Given the description of an element on the screen output the (x, y) to click on. 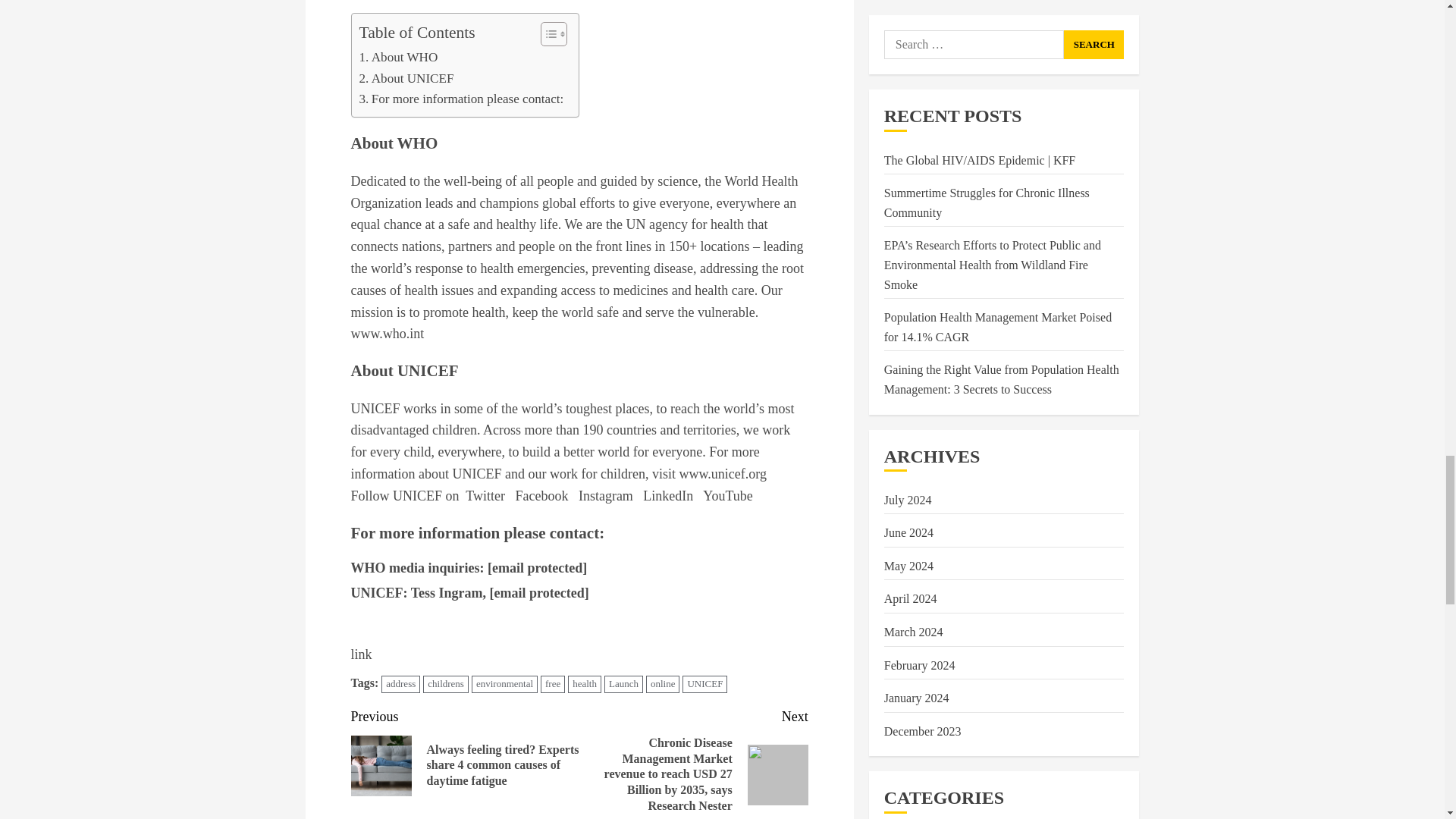
For more information please contact: (461, 98)
free (552, 683)
online (662, 683)
health (584, 683)
childrens (445, 683)
About WHO (398, 56)
About UNICEF (406, 77)
UNICEF (704, 683)
About WHO (398, 56)
About UNICEF (406, 77)
environmental (504, 683)
Launch (623, 683)
address (400, 683)
